Given the description of an element on the screen output the (x, y) to click on. 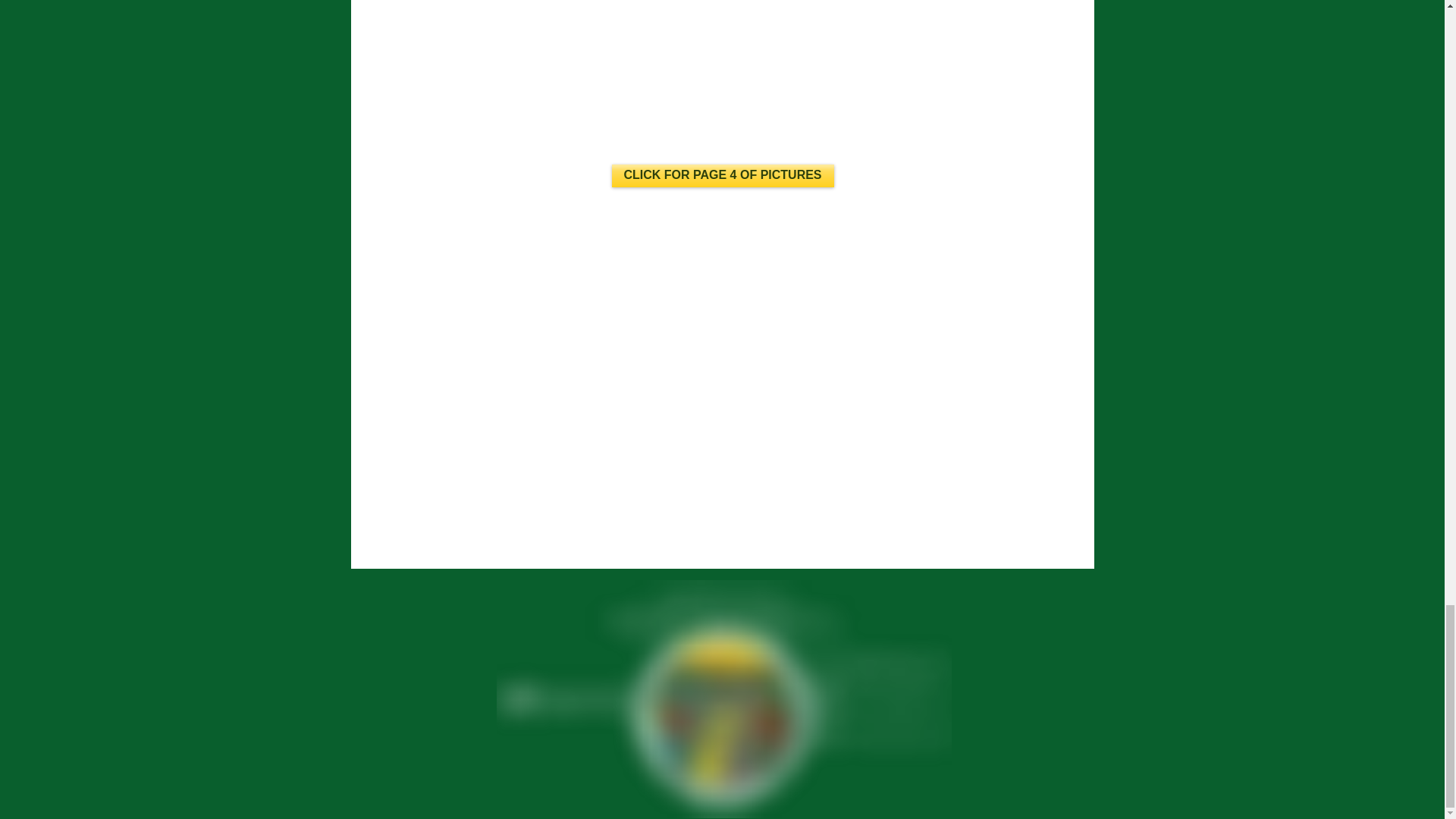
CLICK FOR PAGE 4 OF PICTURES (721, 175)
